Given the description of an element on the screen output the (x, y) to click on. 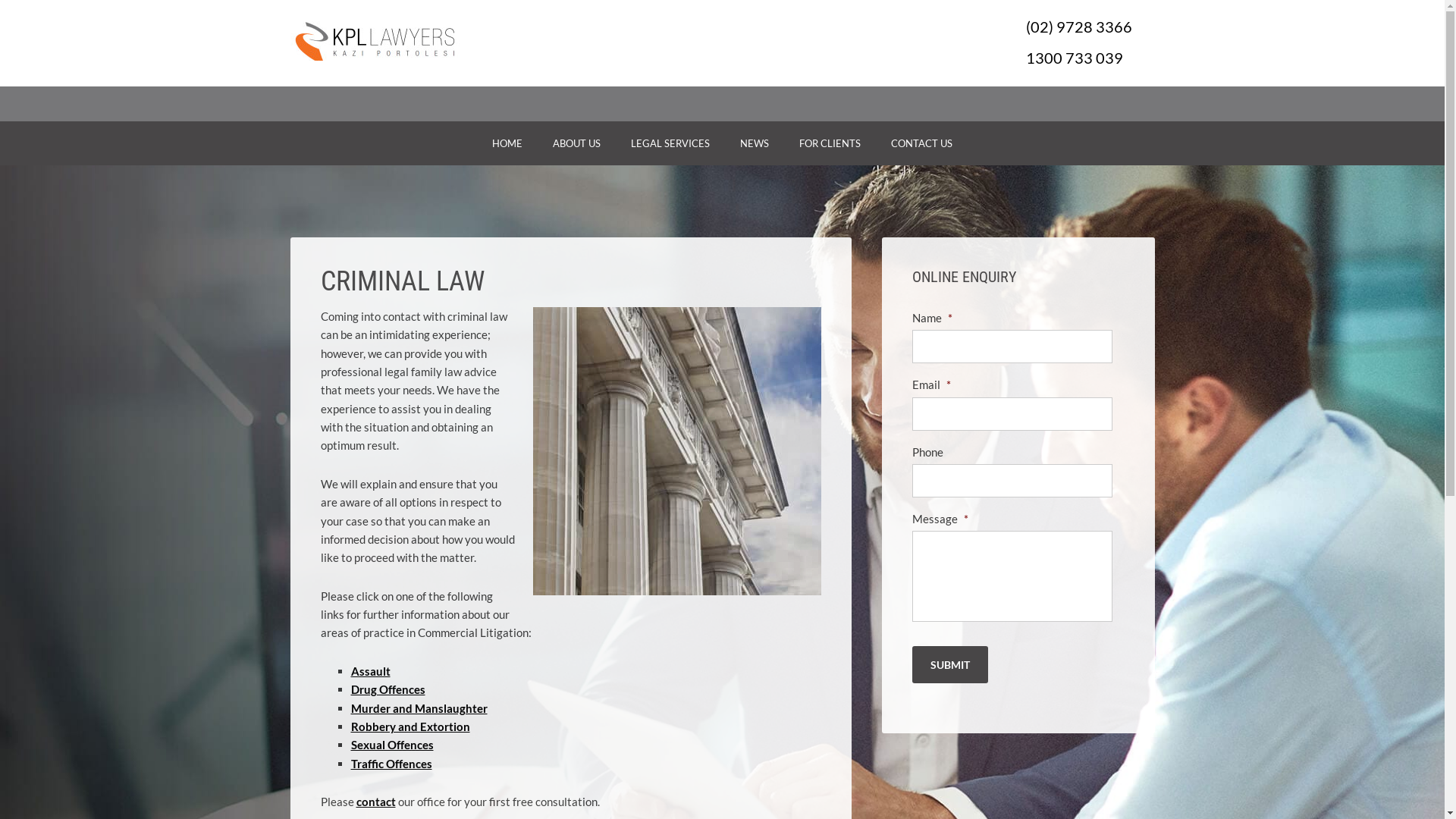
Traffic Offences Element type: text (390, 763)
Robbery and Extortion Element type: text (409, 726)
Submit Element type: text (949, 664)
LEGAL SERVICES Element type: text (670, 143)
FOR CLIENTS Element type: text (829, 143)
CONTACT US Element type: text (921, 143)
1300 733 039 Element type: text (1073, 57)
HOME Element type: text (507, 143)
Assault Element type: text (369, 670)
Sexual Offences Element type: text (391, 744)
NEWS Element type: text (754, 143)
Murder and Manslaughter Element type: text (418, 707)
(02) 9728 3366 Element type: text (1078, 26)
contact Element type: text (375, 801)
ABOUT US Element type: text (576, 143)
Drug Offences Element type: text (387, 689)
Kazi Portolesi Lawyers Element type: hover (441, 37)
